Given the description of an element on the screen output the (x, y) to click on. 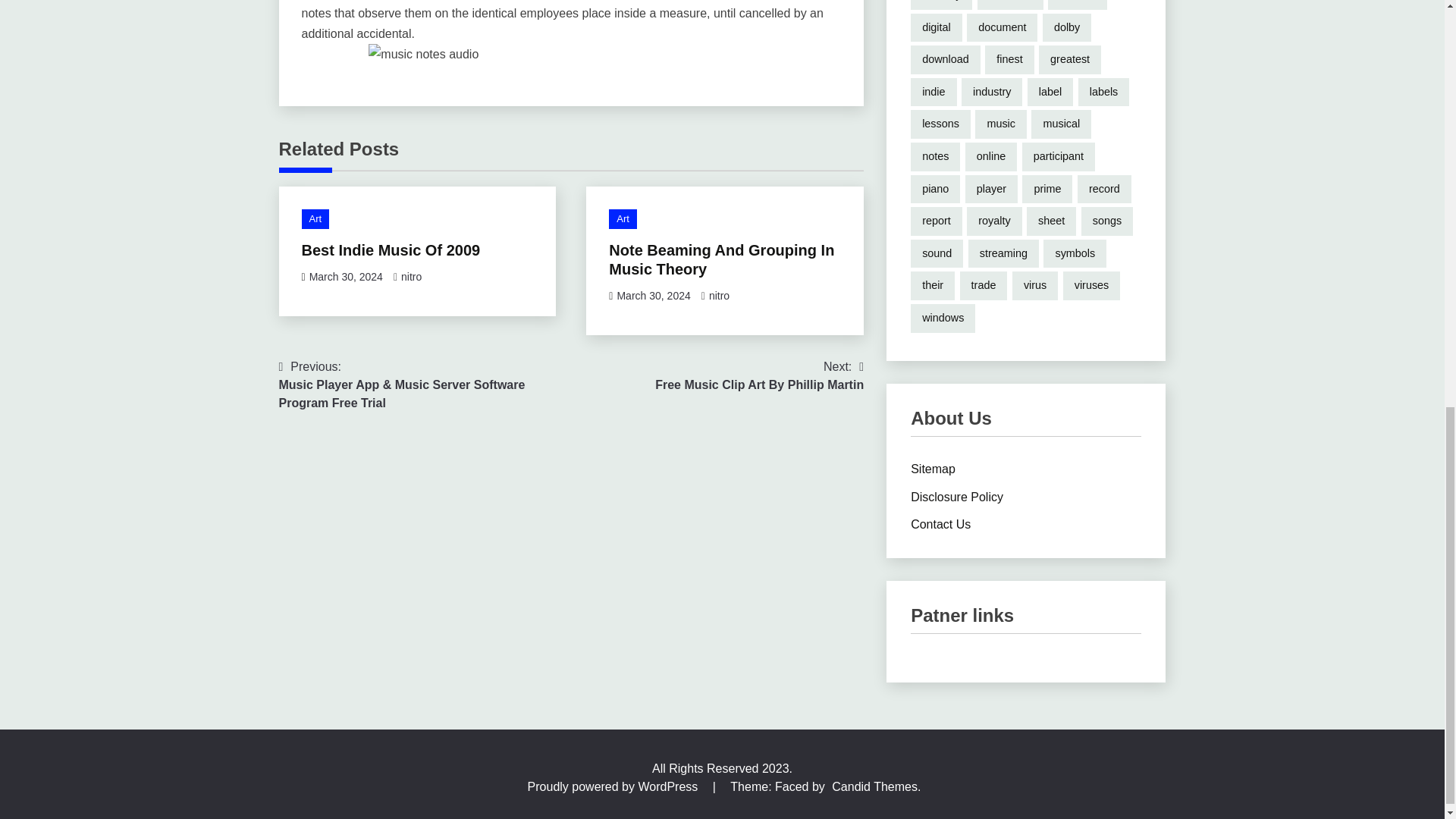
Note Beaming And Grouping In Music Theory (721, 259)
nitro (759, 375)
March 30, 2024 (411, 276)
nitro (345, 276)
Art (719, 295)
Art (622, 219)
Best Indie Music Of 2009 (315, 219)
March 30, 2024 (390, 249)
